Given the description of an element on the screen output the (x, y) to click on. 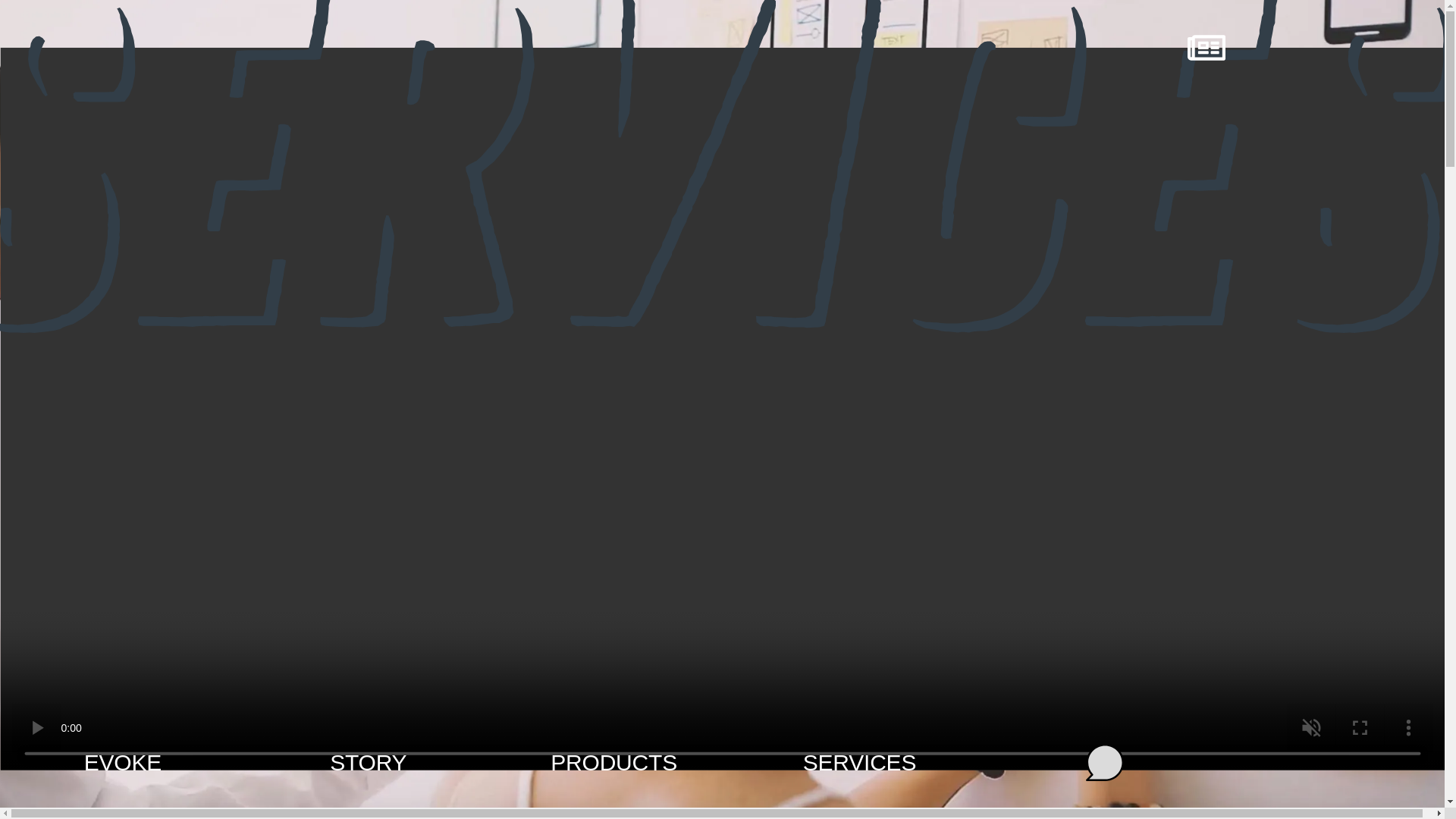
PRODUCTS (613, 762)
SERVICES (860, 762)
EVOKE (122, 762)
STORY (368, 762)
